Given the description of an element on the screen output the (x, y) to click on. 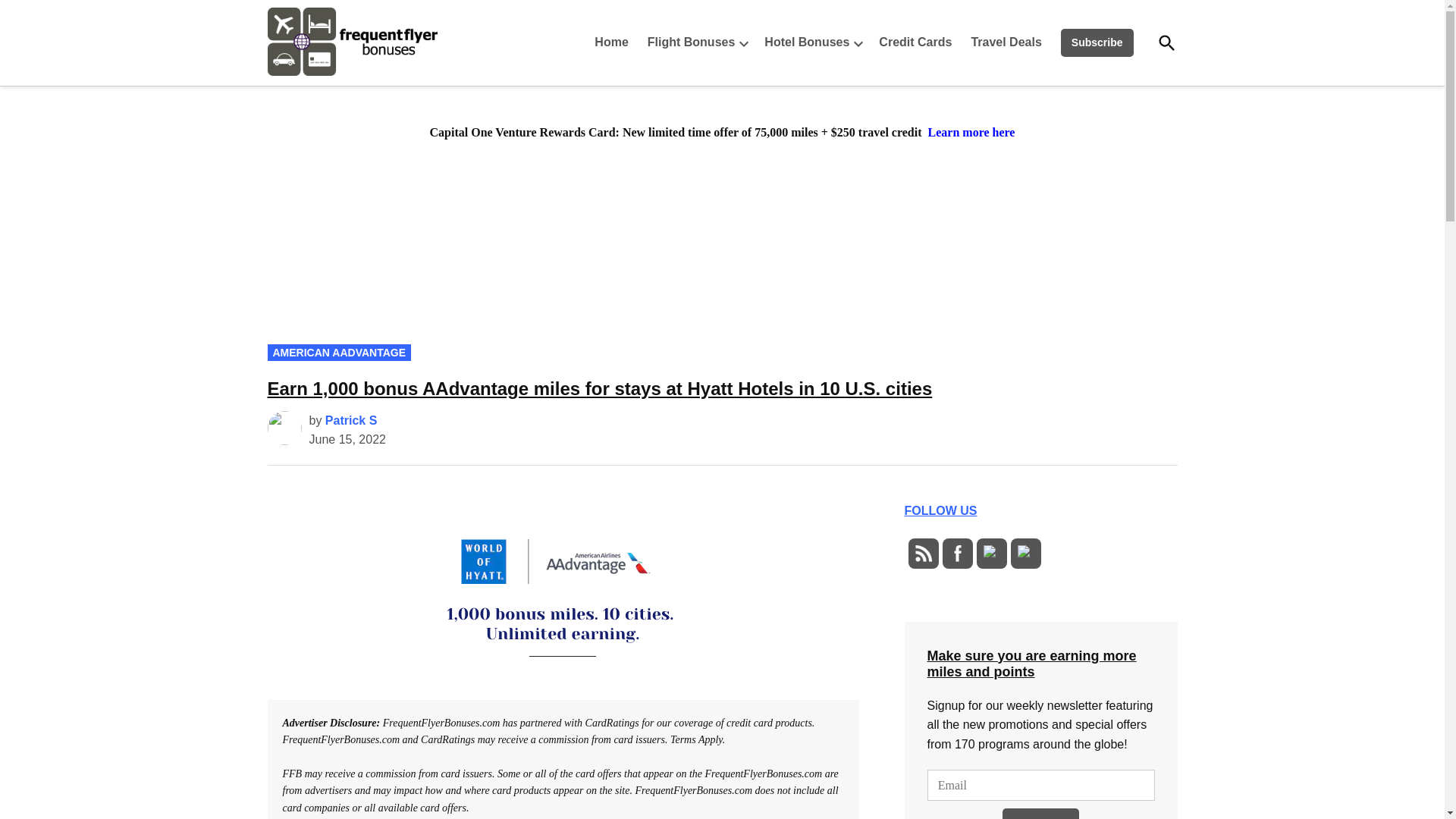
Hotel Bonuses (802, 41)
Home (614, 41)
Facebook (957, 553)
Frequent Flyer Bonuses (483, 74)
Open dropdown menu (857, 42)
Twitter (990, 553)
Flight Bonuses (687, 41)
Open dropdown menu (743, 42)
Instagram (1025, 553)
RSS (922, 553)
